Given the description of an element on the screen output the (x, y) to click on. 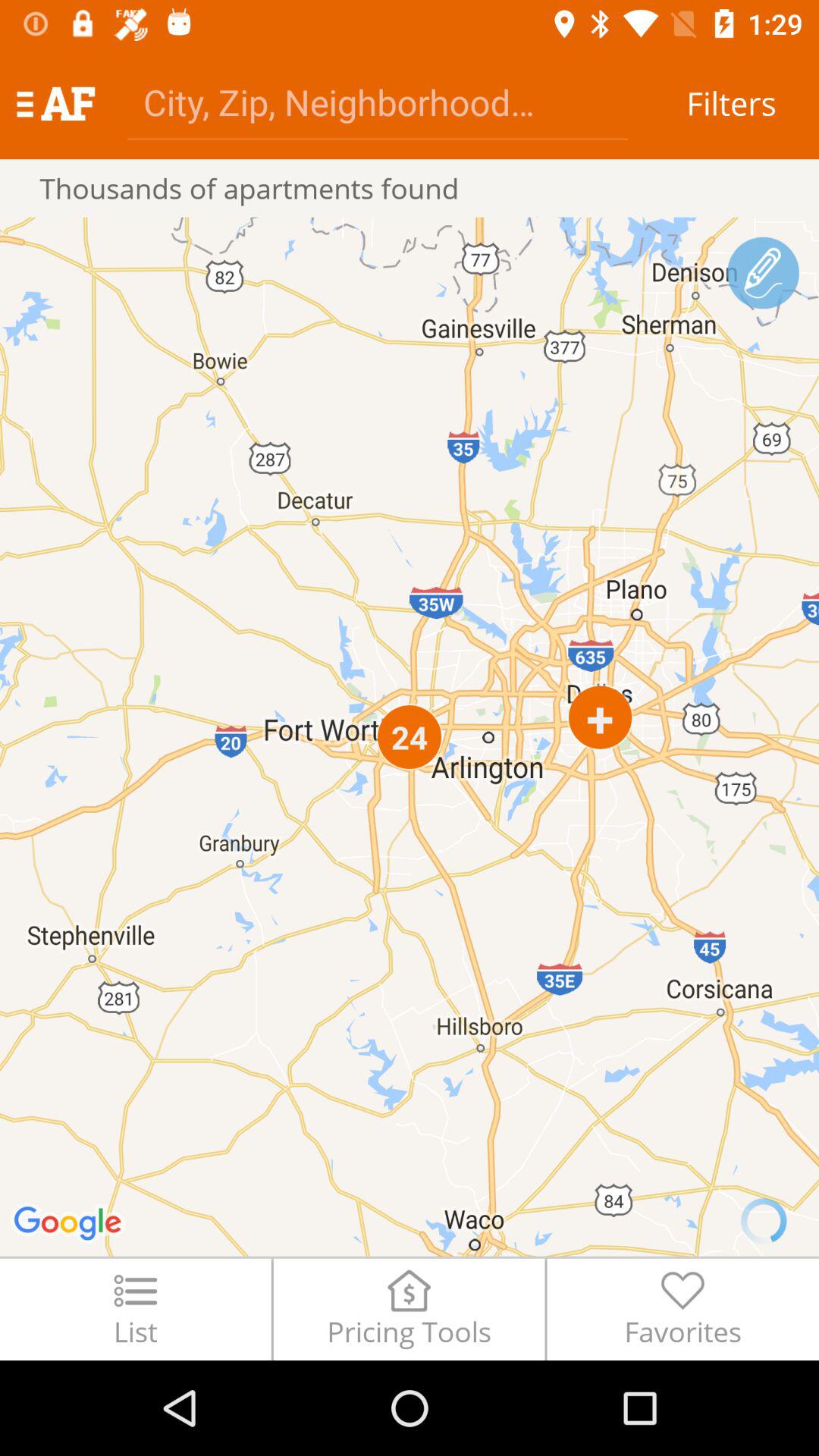
turn off item below filters (763, 272)
